Given the description of an element on the screen output the (x, y) to click on. 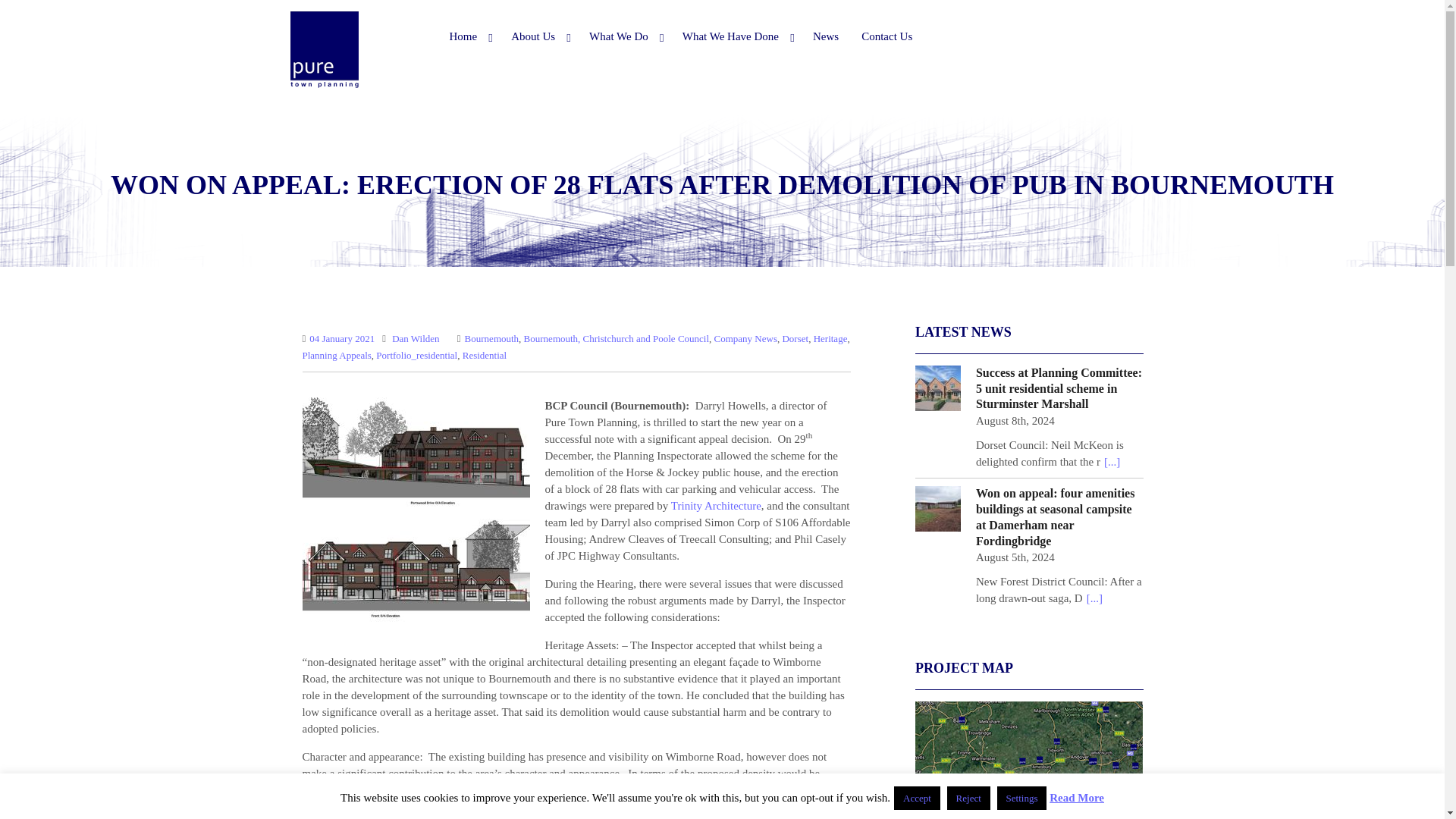
Bournemouth (491, 337)
About Us (538, 36)
Home (469, 36)
What We Do (624, 36)
Contact Us (886, 36)
